Given the description of an element on the screen output the (x, y) to click on. 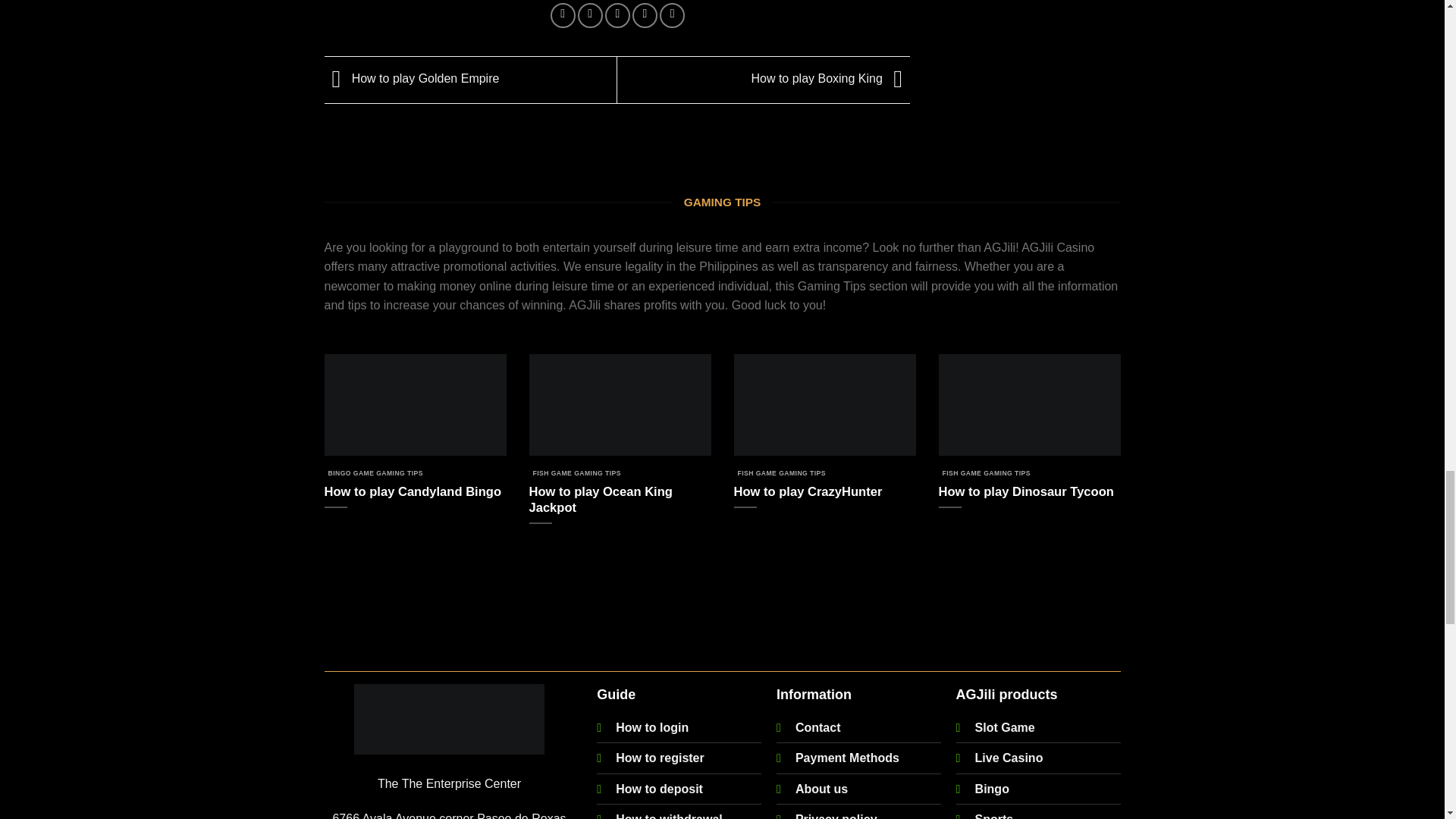
How to play CrazyHunter (807, 492)
Email to a Friend (617, 15)
How to play Golden Empire (411, 78)
Pin on Pinterest (644, 15)
Share on LinkedIn (671, 15)
How to play Ocean King Jackpot (620, 500)
How to play Boxing King (830, 78)
Share on Twitter (590, 15)
Share on Facebook (562, 15)
How to play Candyland Bingo (413, 492)
